Given the description of an element on the screen output the (x, y) to click on. 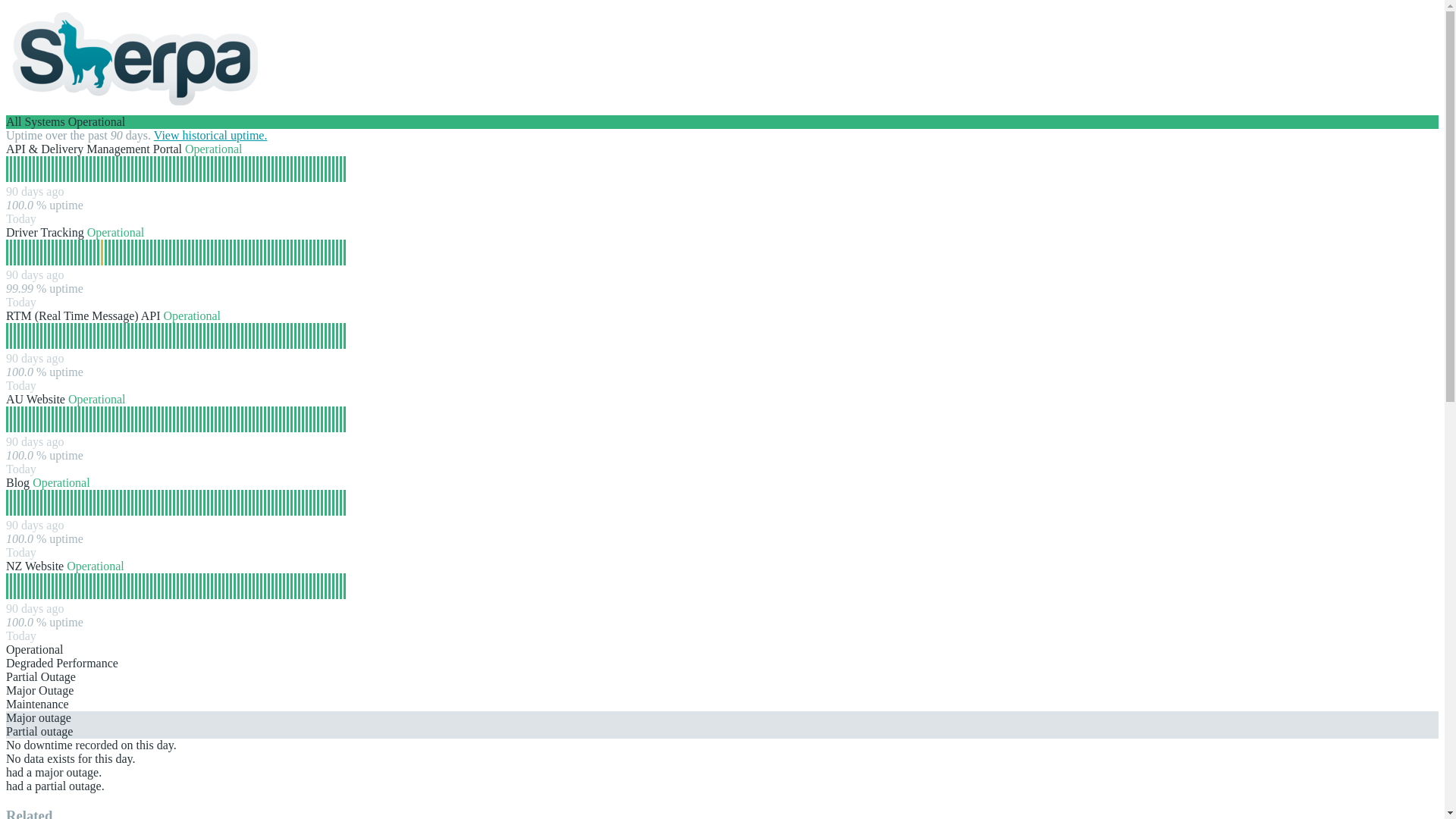
View historical uptime. Element type: text (210, 134)
